Given the description of an element on the screen output the (x, y) to click on. 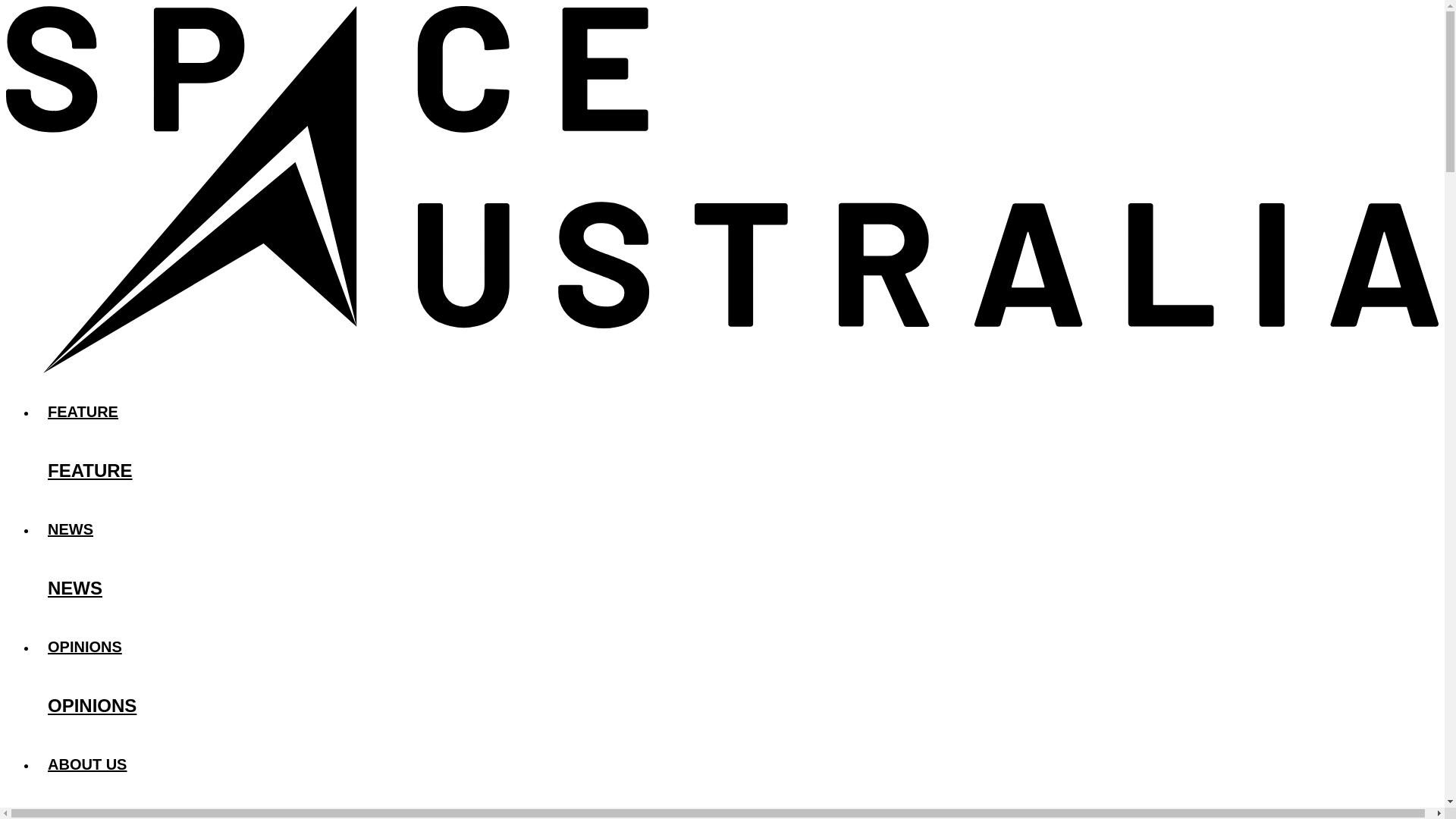
FEATURE (737, 470)
ABOUT US (737, 808)
FEATURE (737, 411)
ABOUT US (737, 764)
NEWS (737, 588)
OPINIONS (737, 646)
OPINIONS (737, 706)
Skip to main content (722, 7)
NEWS (737, 529)
